Given the description of an element on the screen output the (x, y) to click on. 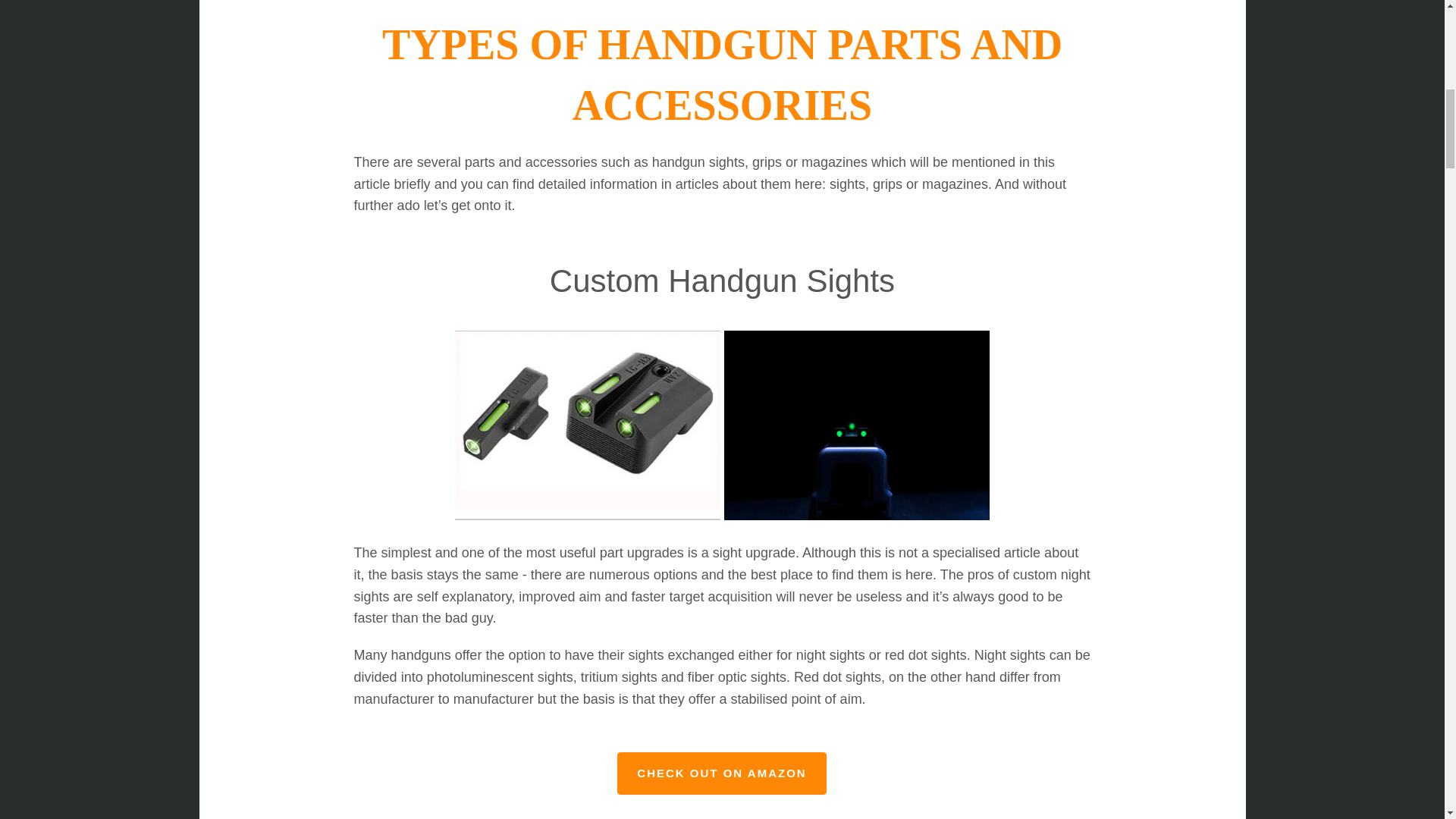
CHECK OUT ON AMAZON (721, 773)
